Given the description of an element on the screen output the (x, y) to click on. 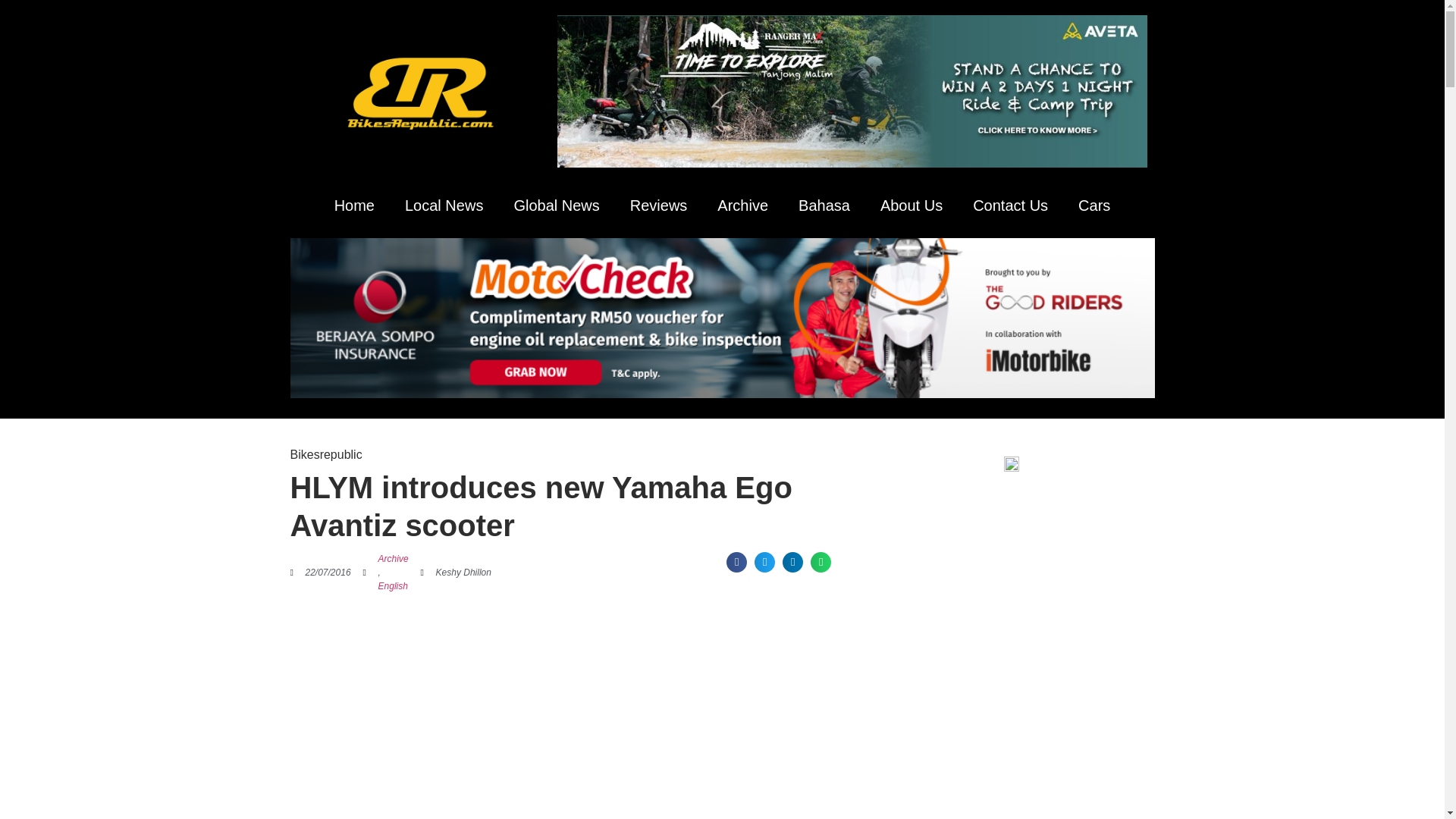
Reviews (658, 205)
English (393, 585)
Home (354, 205)
Global News (555, 205)
Cars (1093, 205)
Keshy Dhillon (456, 572)
Archive (393, 558)
Archive (742, 205)
Contact Us (1010, 205)
Local News (443, 205)
